Given the description of an element on the screen output the (x, y) to click on. 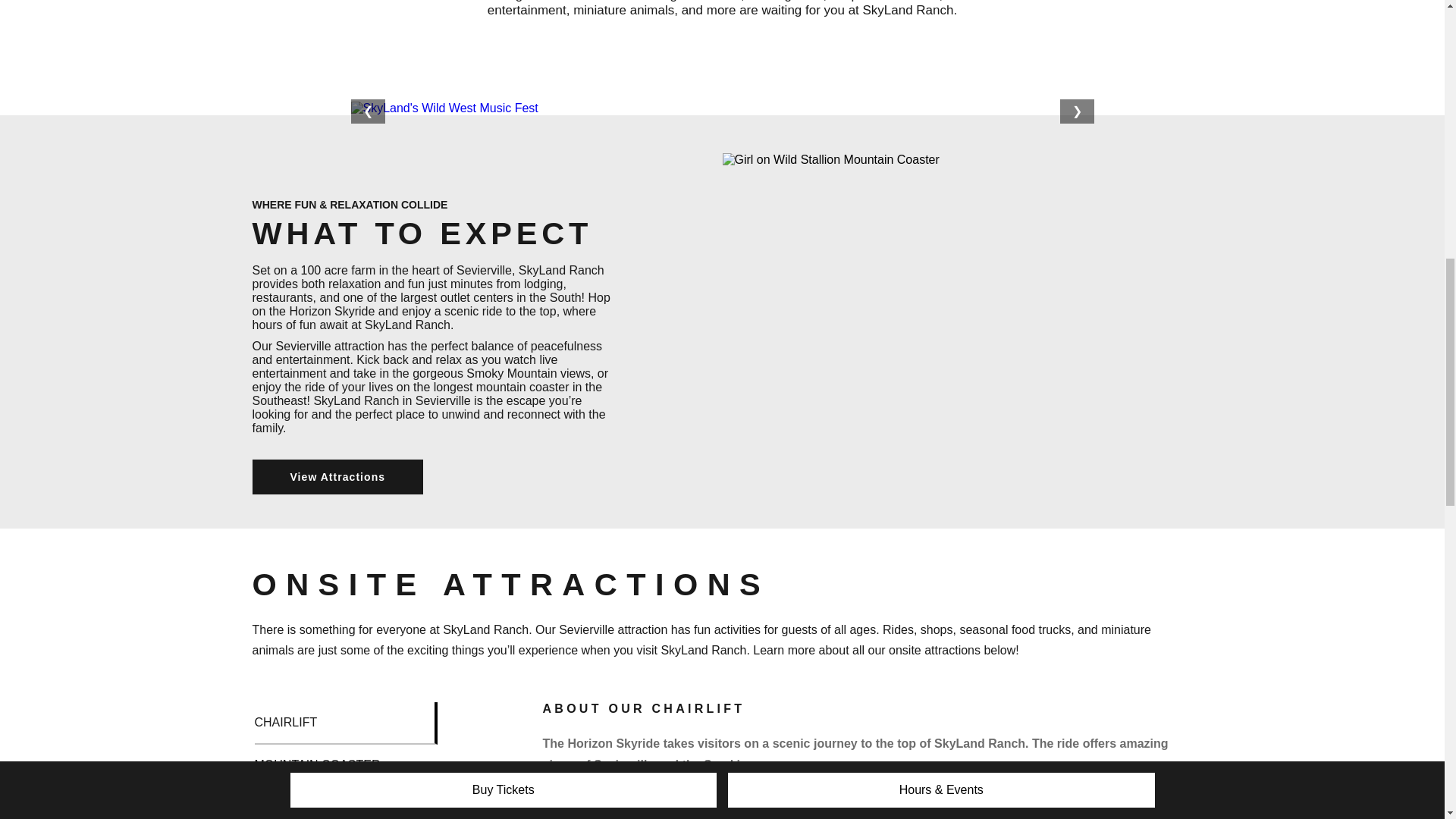
View Attractions (337, 476)
